Given the description of an element on the screen output the (x, y) to click on. 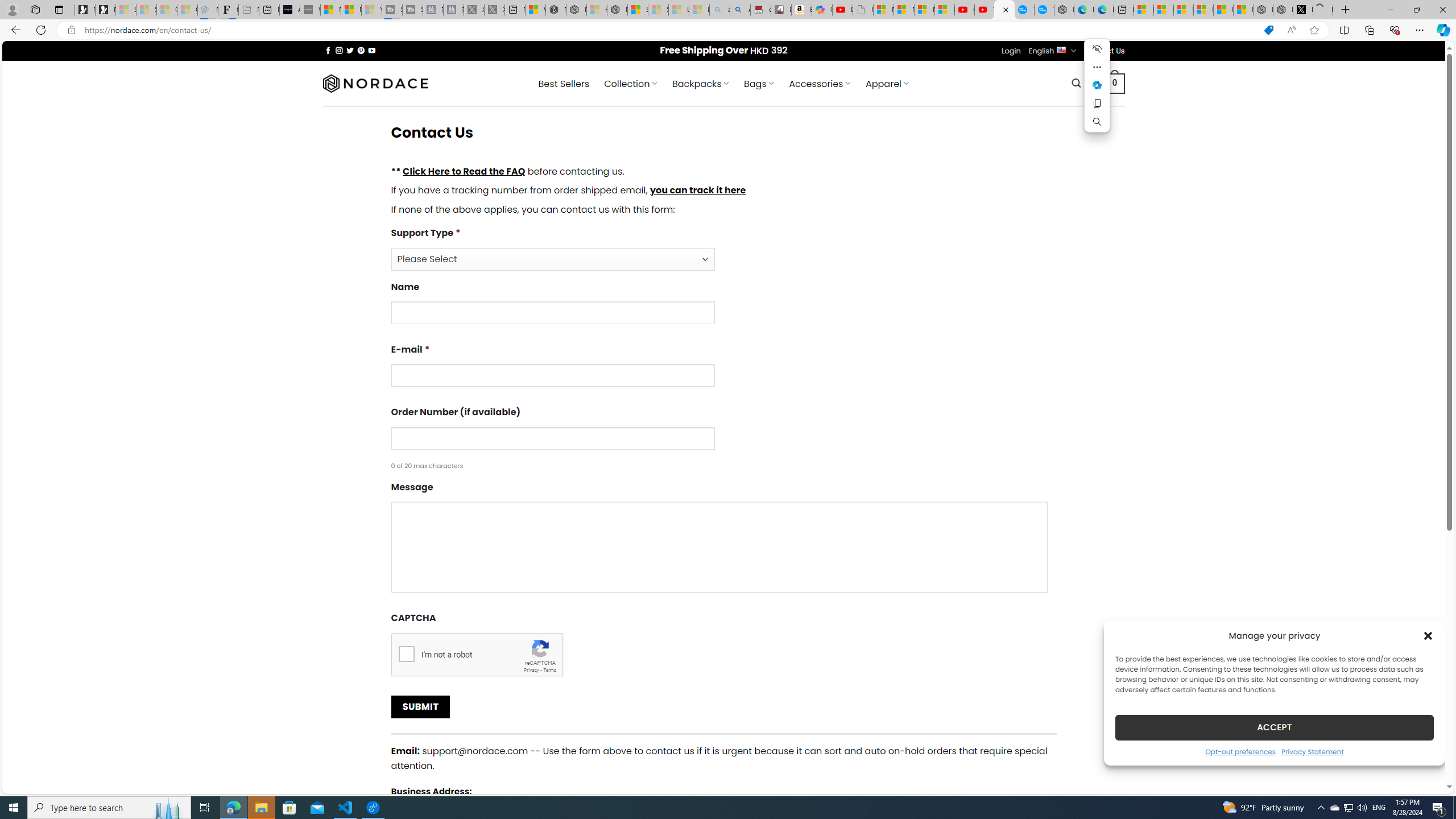
Name (552, 312)
More actions (1096, 67)
Mini menu on text selection (1096, 91)
